Given the description of an element on the screen output the (x, y) to click on. 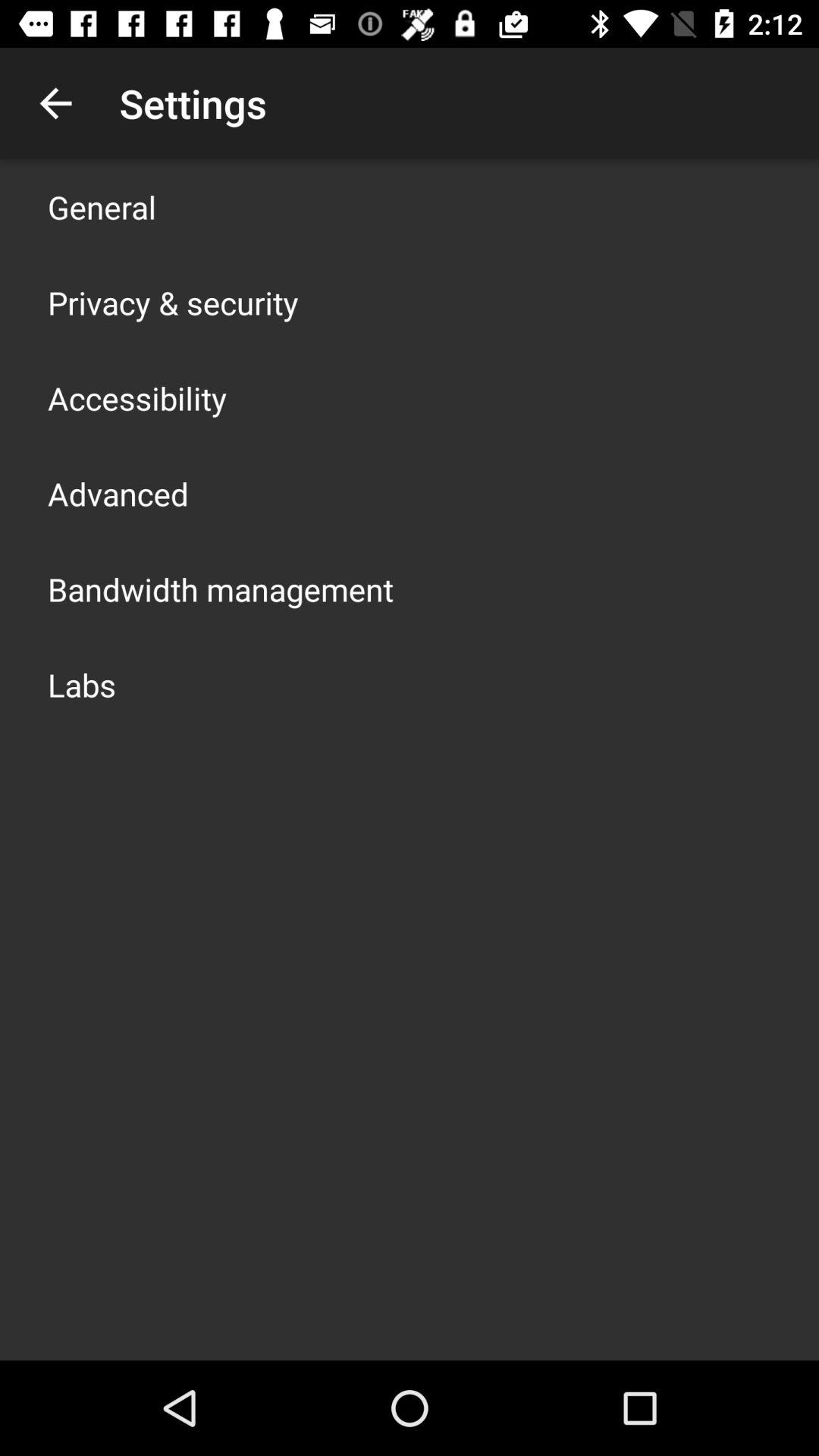
swipe until advanced icon (117, 493)
